Given the description of an element on the screen output the (x, y) to click on. 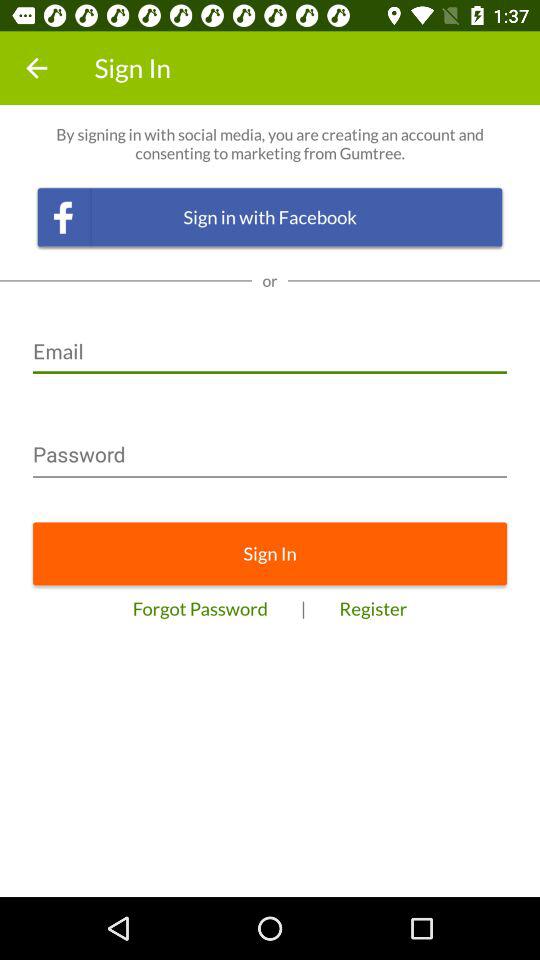
turn on the item to the left of sign in item (36, 68)
